Given the description of an element on the screen output the (x, y) to click on. 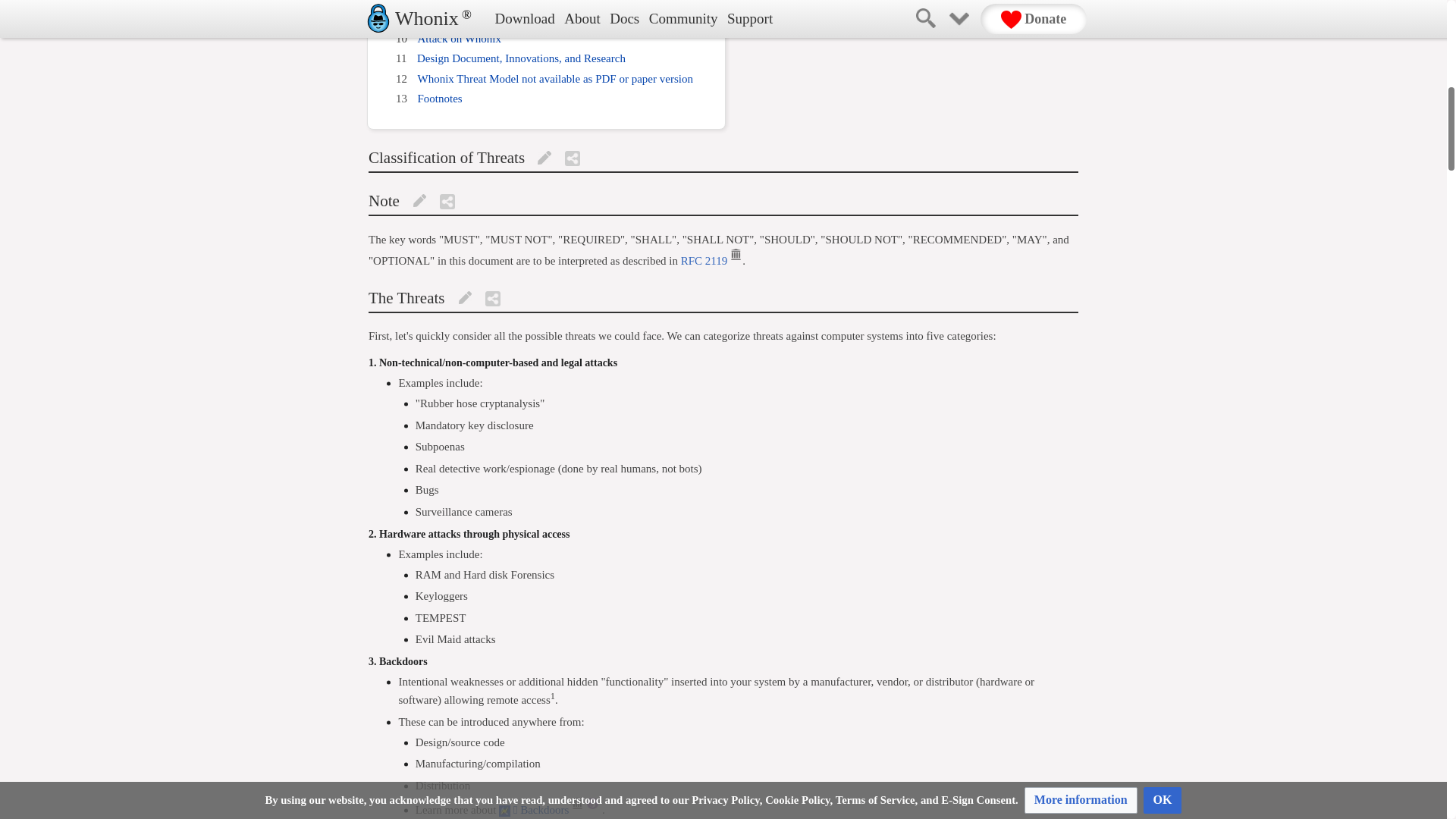
Edit section: Classification of Threats (543, 157)
